Given the description of an element on the screen output the (x, y) to click on. 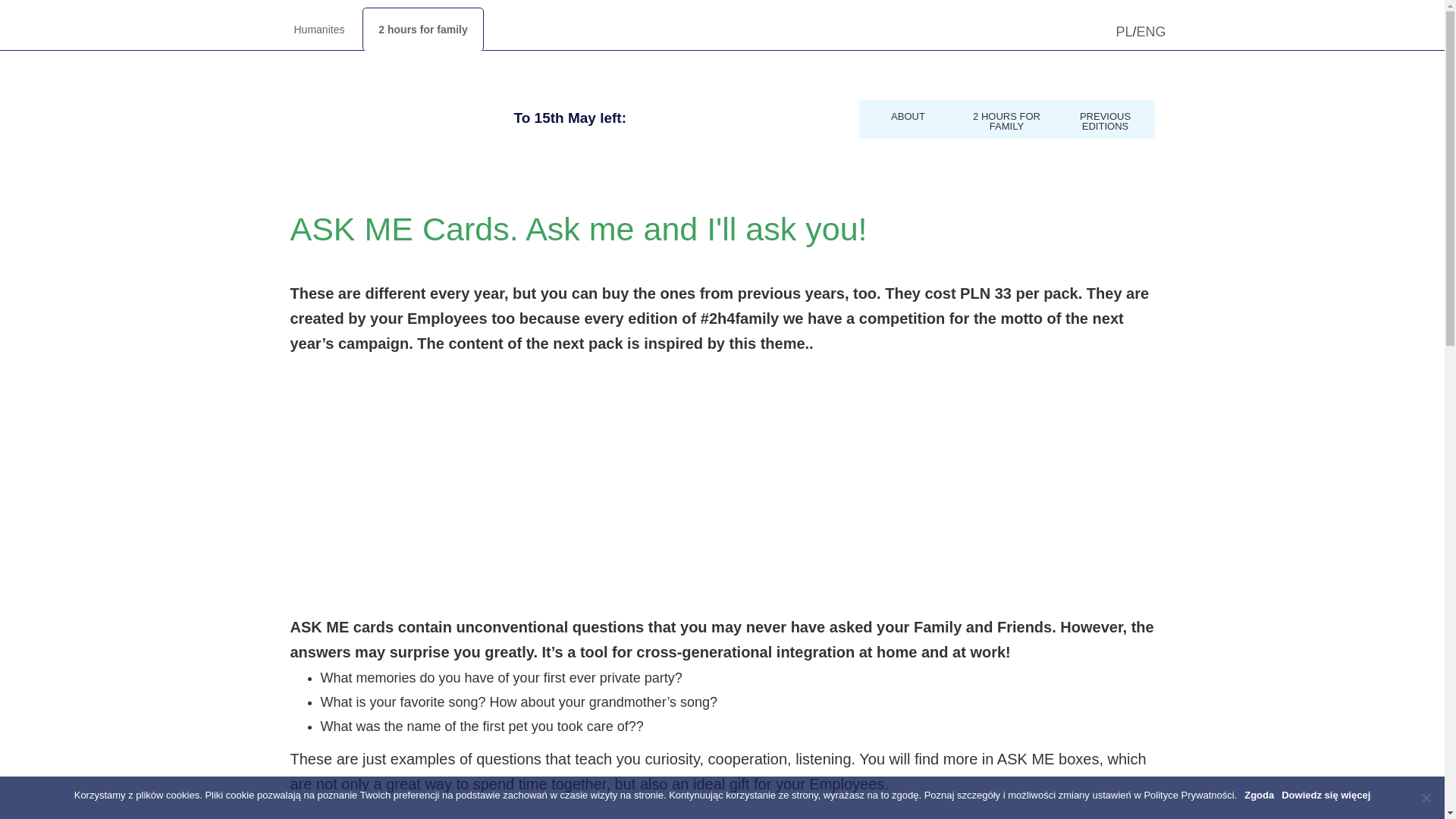
PL (1123, 31)
2 hours for family (1005, 119)
About (907, 114)
ABOUT (907, 114)
PREVIOUS EDITIONS (1104, 119)
2 hours for family (422, 29)
Previous Editions (1104, 119)
2 HOURS FOR FAMILY (1005, 119)
ENG (1150, 31)
Humanites (319, 29)
